Given the description of an element on the screen output the (x, y) to click on. 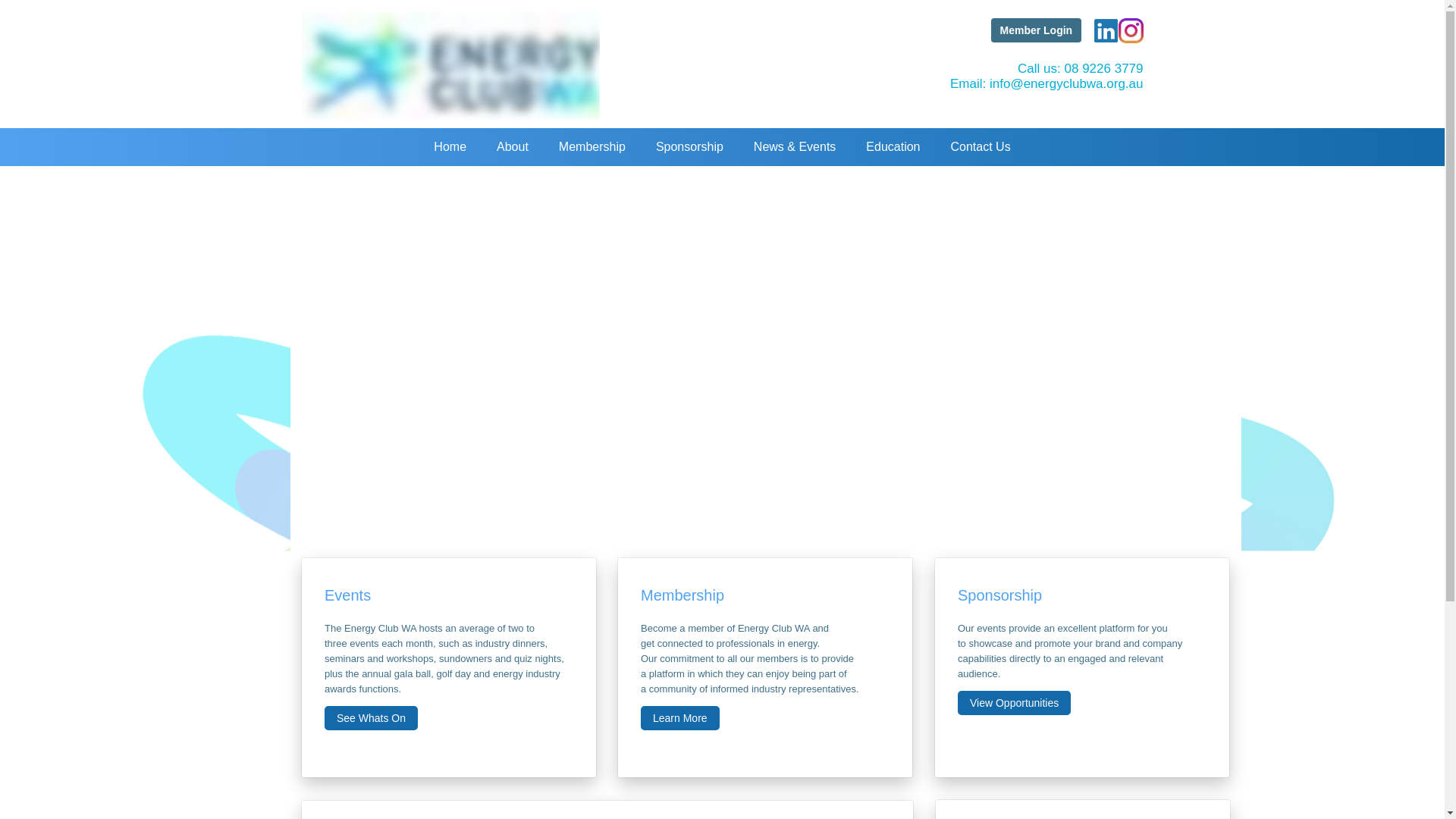
View Opportunities (1014, 702)
About (512, 146)
See Whats On (370, 717)
Call us: (1040, 68)
08 9226 3779 (1103, 68)
Learn More (679, 717)
Sponsorship (689, 146)
Member Login (1035, 30)
Membership (591, 146)
Education (892, 146)
Contact Us (981, 146)
Home (450, 146)
